Given the description of an element on the screen output the (x, y) to click on. 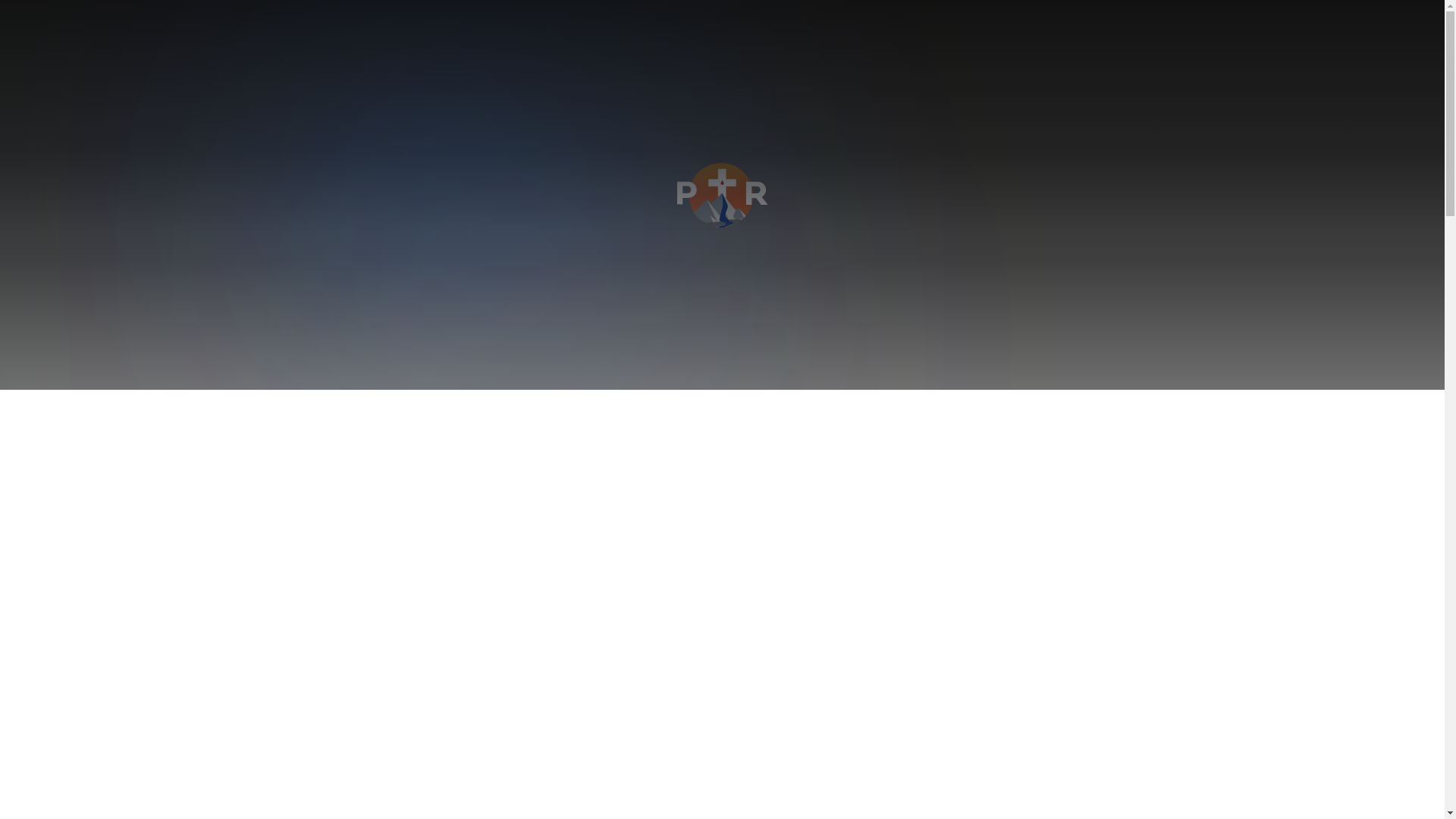
Search (25, 9)
